Given the description of an element on the screen output the (x, y) to click on. 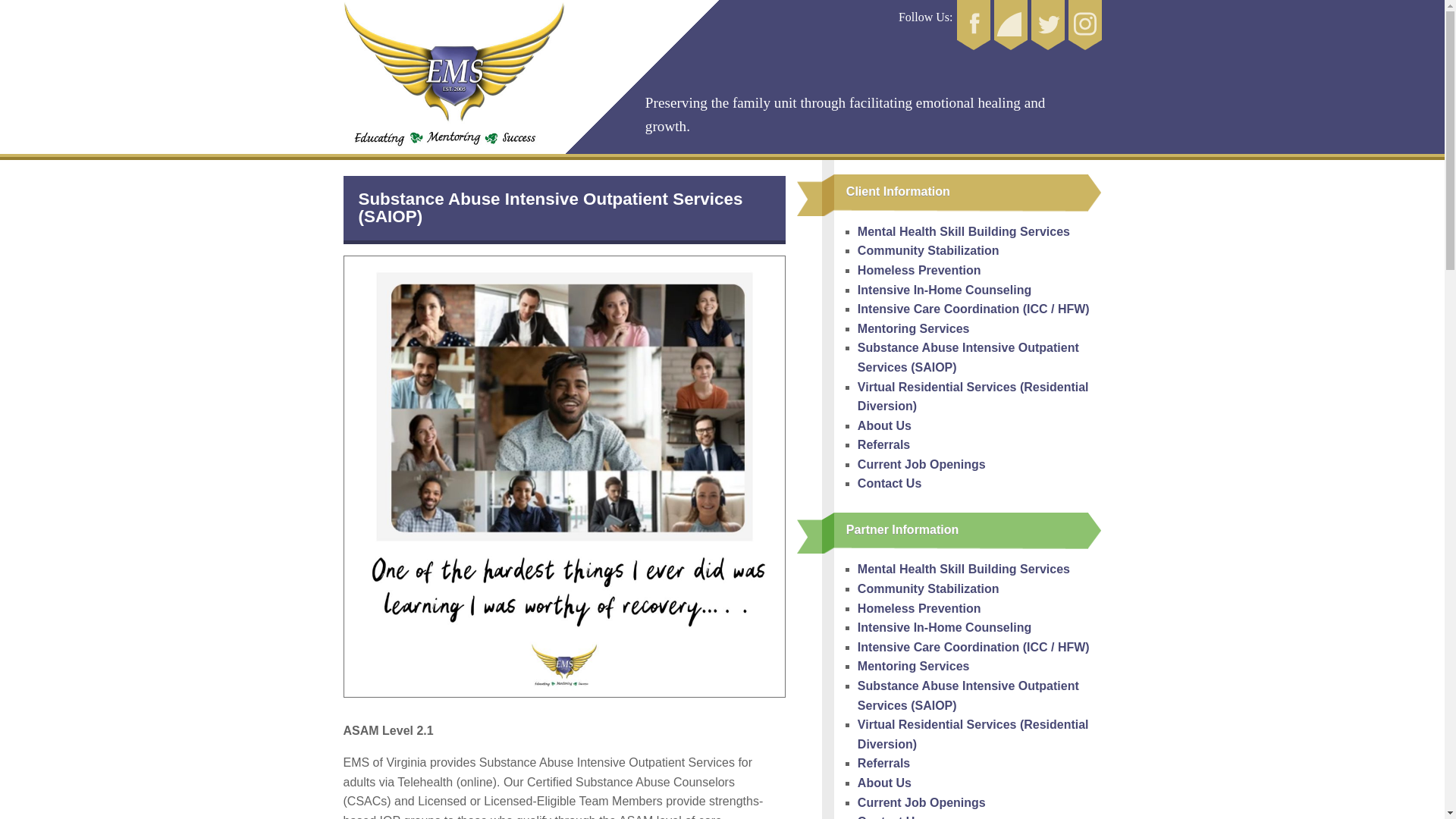
About Us (979, 783)
Referrals (979, 444)
Contact Us (979, 483)
Homeless Prevention (979, 608)
Mental Health Skill Building Services (979, 569)
Community Stabilization (979, 250)
Intensive In-Home Counseling (979, 290)
About Us (979, 425)
Mentoring Services (979, 666)
Community Stabilization (979, 588)
Contact Us (979, 815)
Mental Health Skill Building Services (979, 231)
Mentoring Services (979, 329)
Current Job Openings (979, 465)
Referrals (979, 763)
